Given the description of an element on the screen output the (x, y) to click on. 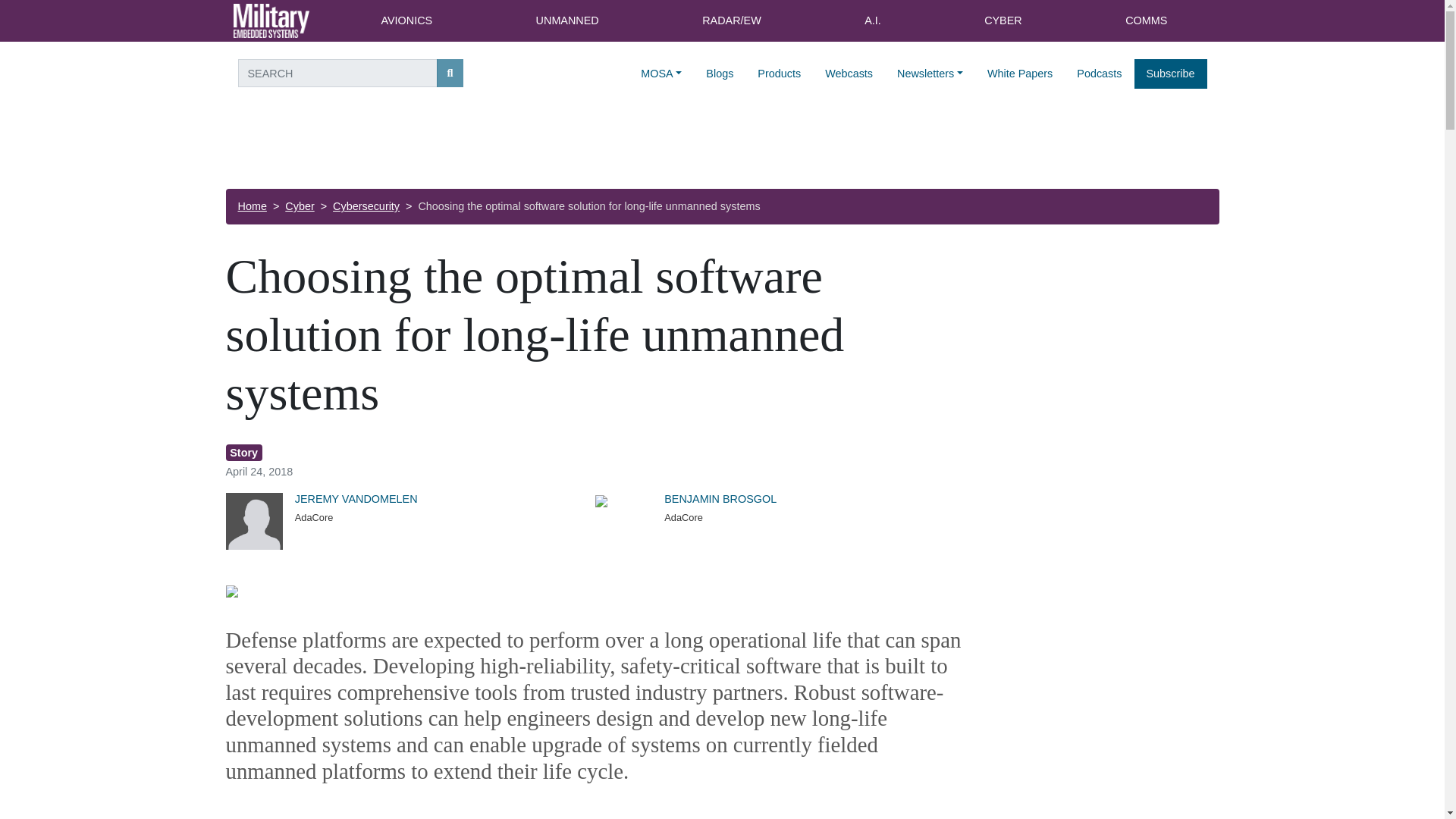
A.I. (872, 20)
COMMS (1147, 20)
UNMANNED (566, 20)
CYBER (1003, 20)
AVIONICS (406, 20)
